Given the description of an element on the screen output the (x, y) to click on. 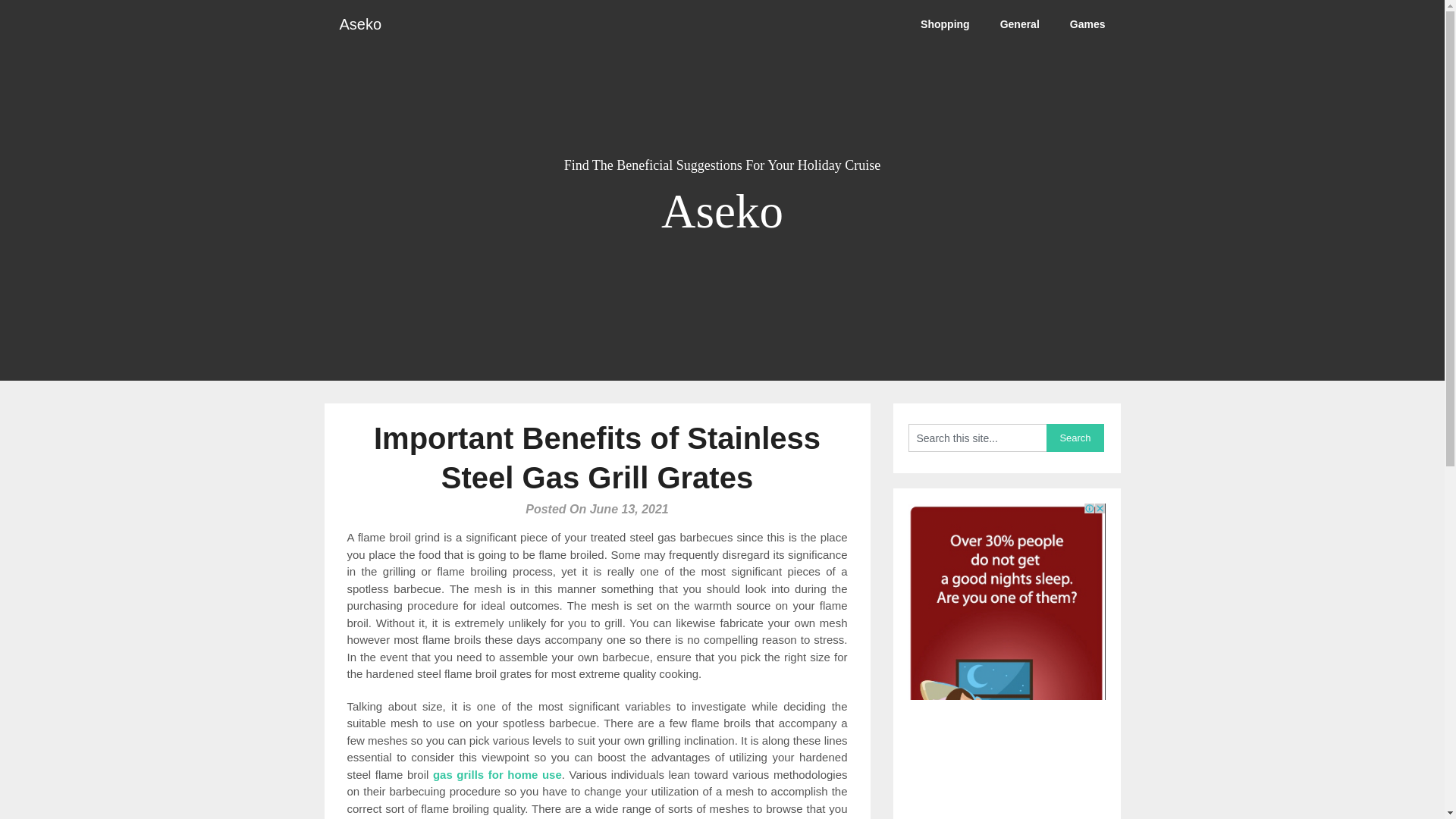
General (1019, 24)
Search (1075, 438)
Games (1087, 24)
Aseko (360, 24)
Search (1075, 438)
Shopping (945, 24)
gas grills for home use (497, 773)
Search this site... (977, 438)
